Given the description of an element on the screen output the (x, y) to click on. 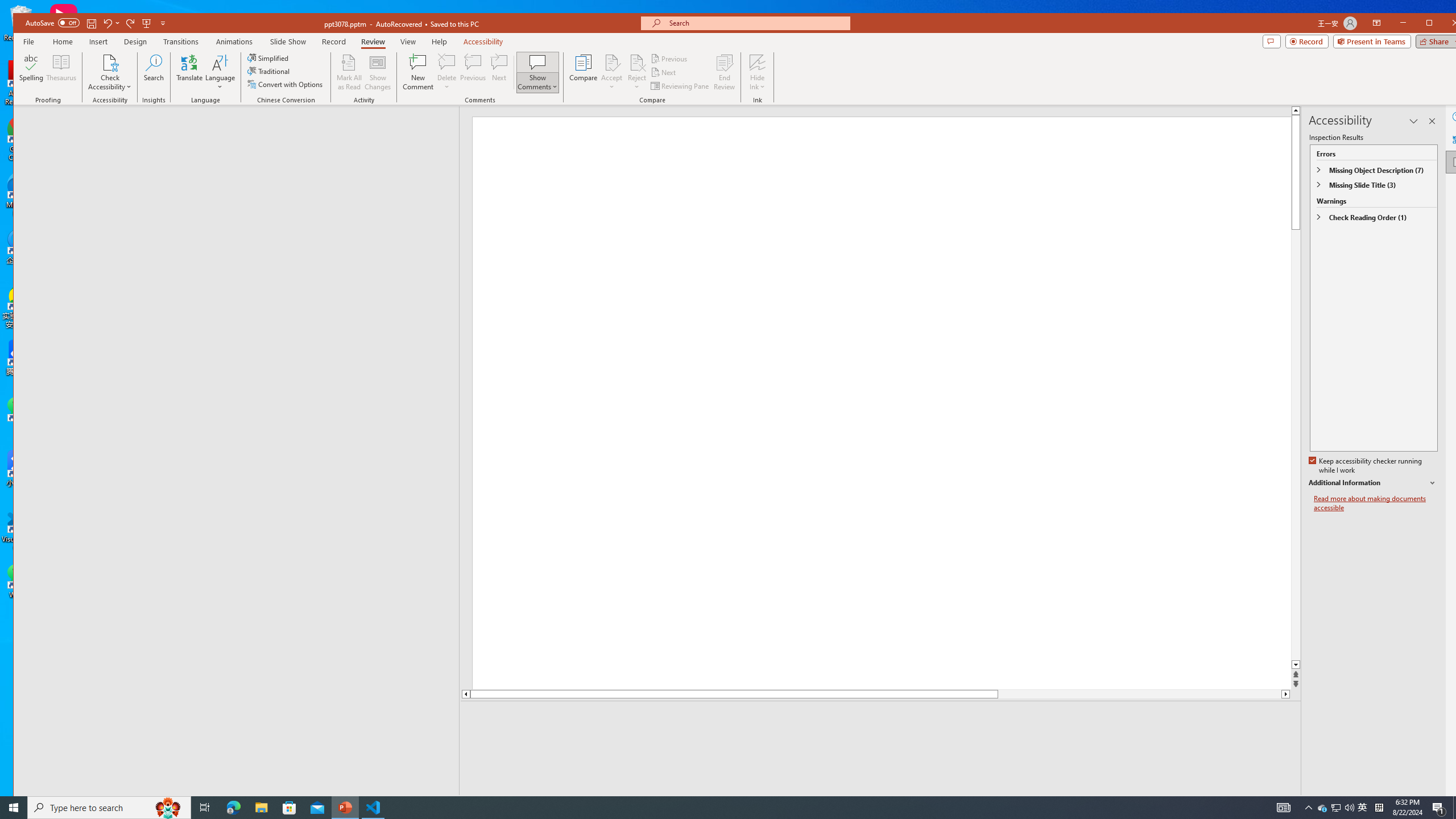
Delete (446, 61)
Next (664, 72)
Traditional (270, 70)
Compare (582, 72)
Additional Information (1373, 482)
End Review (723, 72)
